Given the description of an element on the screen output the (x, y) to click on. 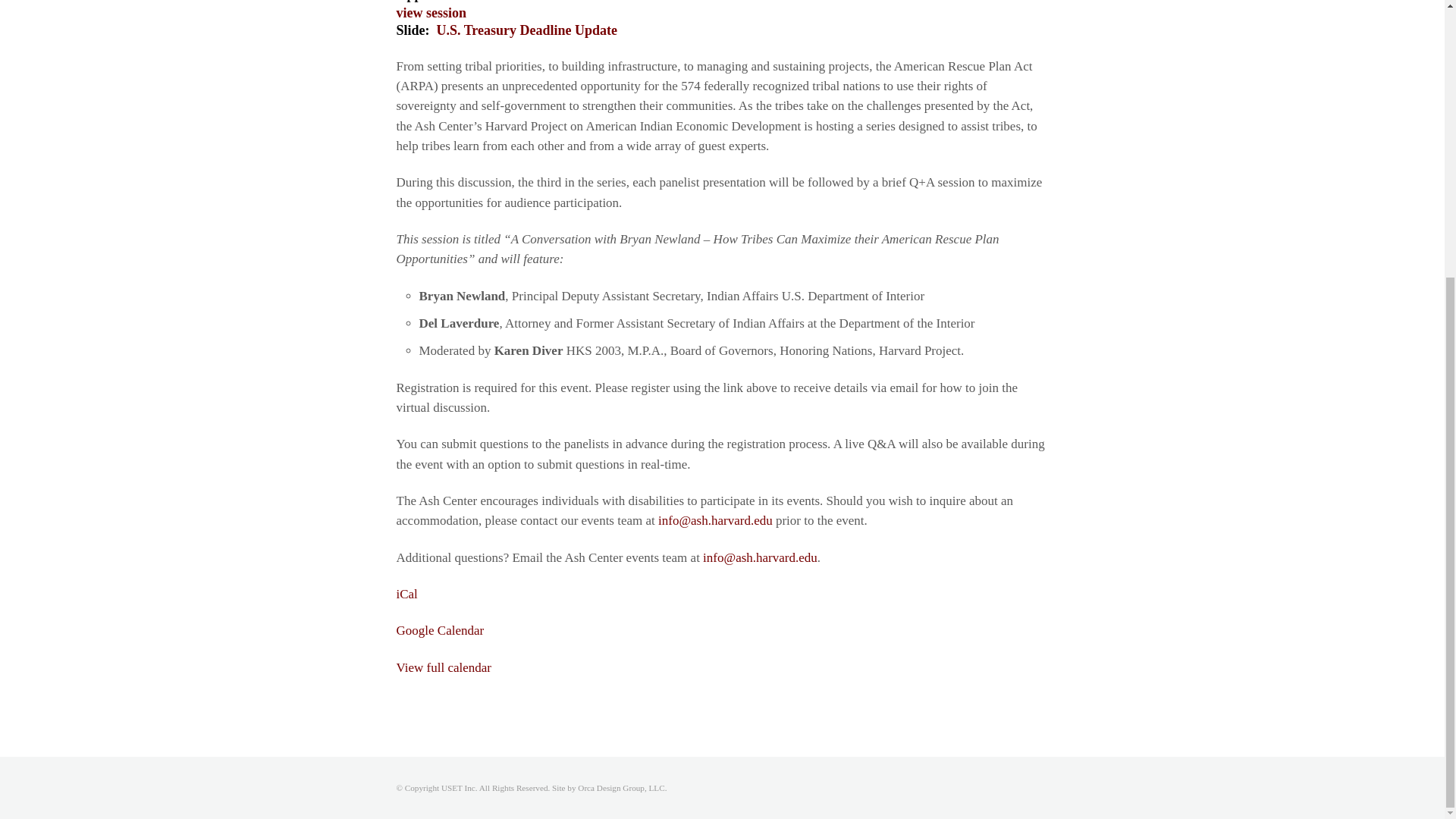
Orca Design Group, LLC (620, 787)
Google Calendar (439, 630)
U.S. Treasury Deadline Update (526, 29)
view session (430, 12)
iCal (406, 594)
View full calendar (443, 667)
